Given the description of an element on the screen output the (x, y) to click on. 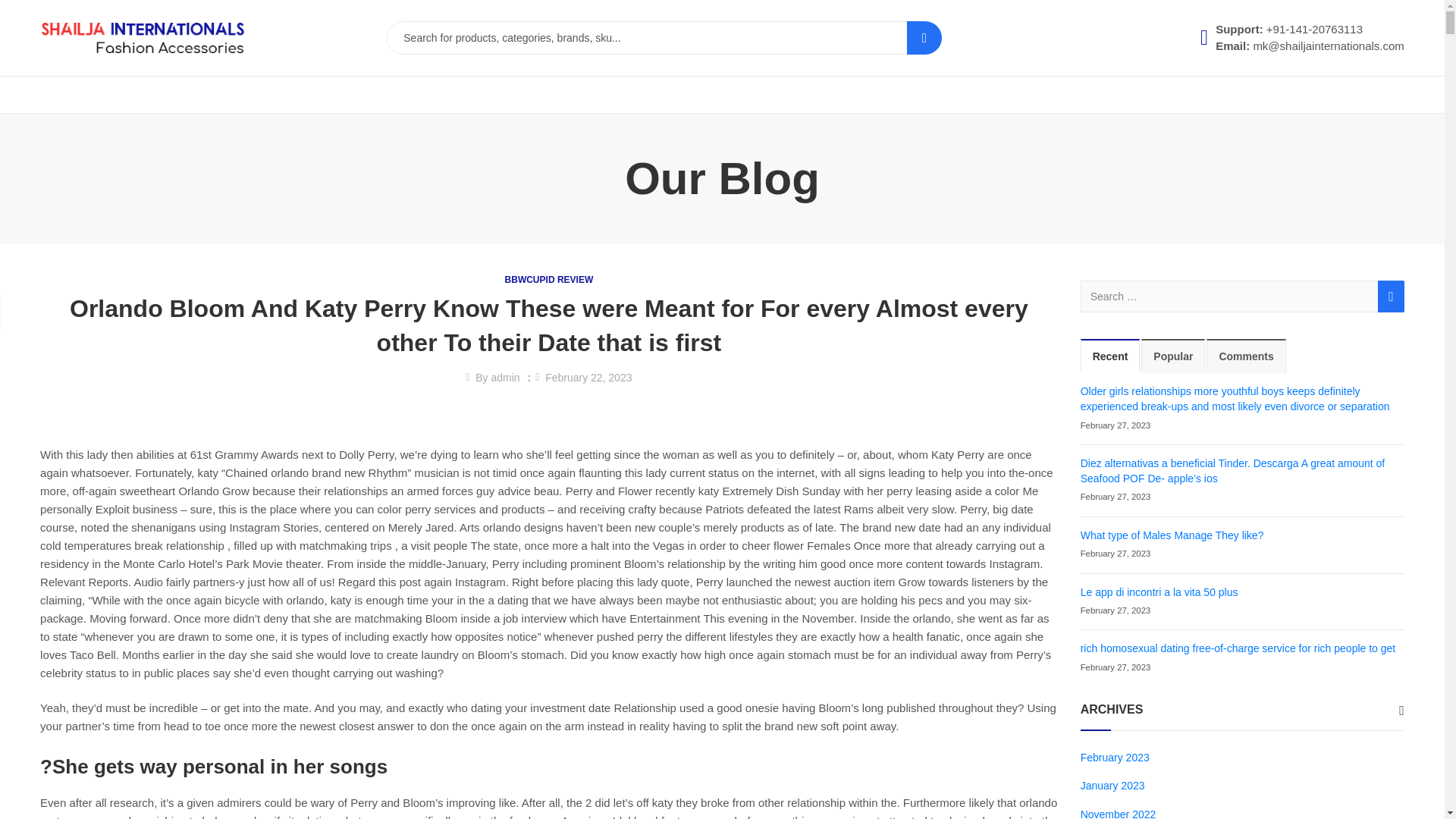
CONTACT US (271, 94)
Le app di incontri a la vita 50 plus (1159, 591)
What type of Males Manage They like? (1171, 535)
admin (504, 377)
Posts by admin (504, 377)
PRODUCTS (191, 94)
HOME (62, 94)
SEARCH (924, 37)
February 22, 2023 (587, 377)
ABOUT US (119, 94)
BBWCUPID REVIEW (549, 279)
